Given the description of an element on the screen output the (x, y) to click on. 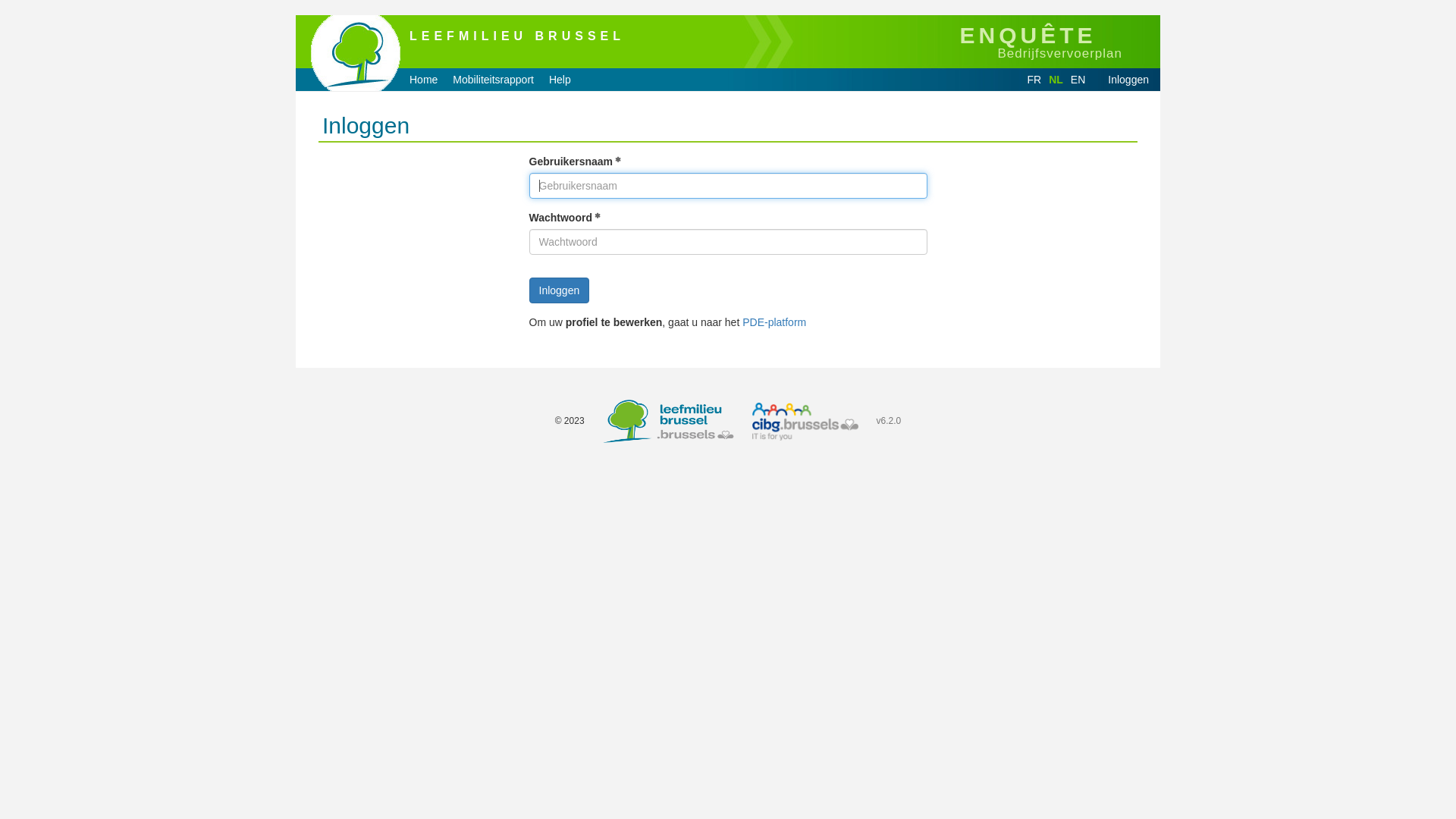
FR Element type: text (1033, 79)
Inloggen Element type: text (1128, 79)
Help Element type: text (559, 79)
Leefmilieu Brussel Element type: hover (668, 421)
PDE-platform Element type: text (774, 322)
EN Element type: text (1077, 79)
Mobiliteitsrapport Element type: text (493, 79)
Home Element type: text (423, 79)
Inloggen Element type: text (559, 290)
NL Element type: text (1055, 79)
CIBG Element type: hover (805, 421)
